Given the description of an element on the screen output the (x, y) to click on. 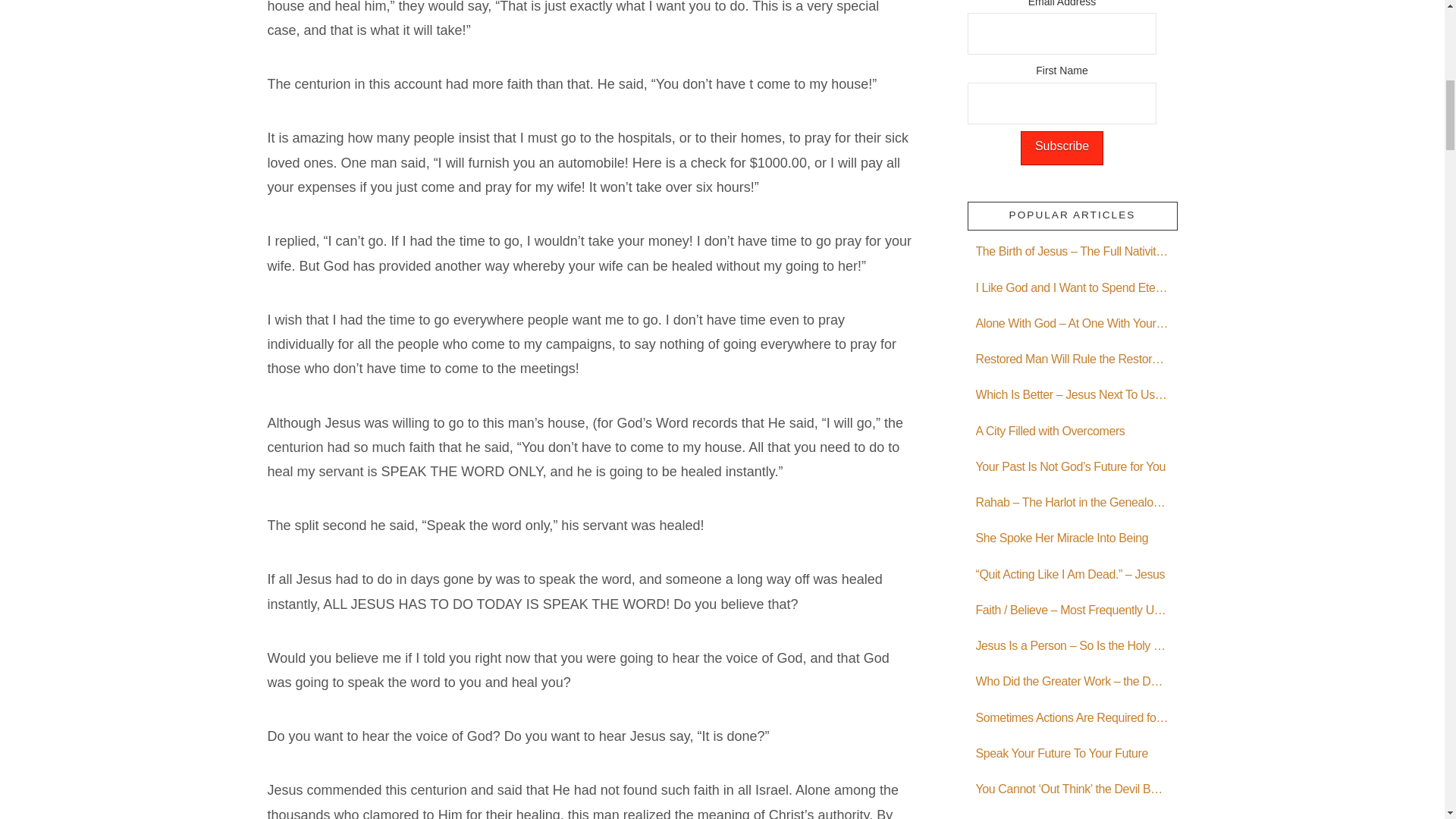
Permalink to: "A City Filled with Overcomers" (1072, 432)
Permalink to: "She Spoke Her Miracle Into Being" (1072, 539)
Subscribe (1061, 148)
Permalink to: "Speak Your Future To Your Future" (1072, 755)
